Given the description of an element on the screen output the (x, y) to click on. 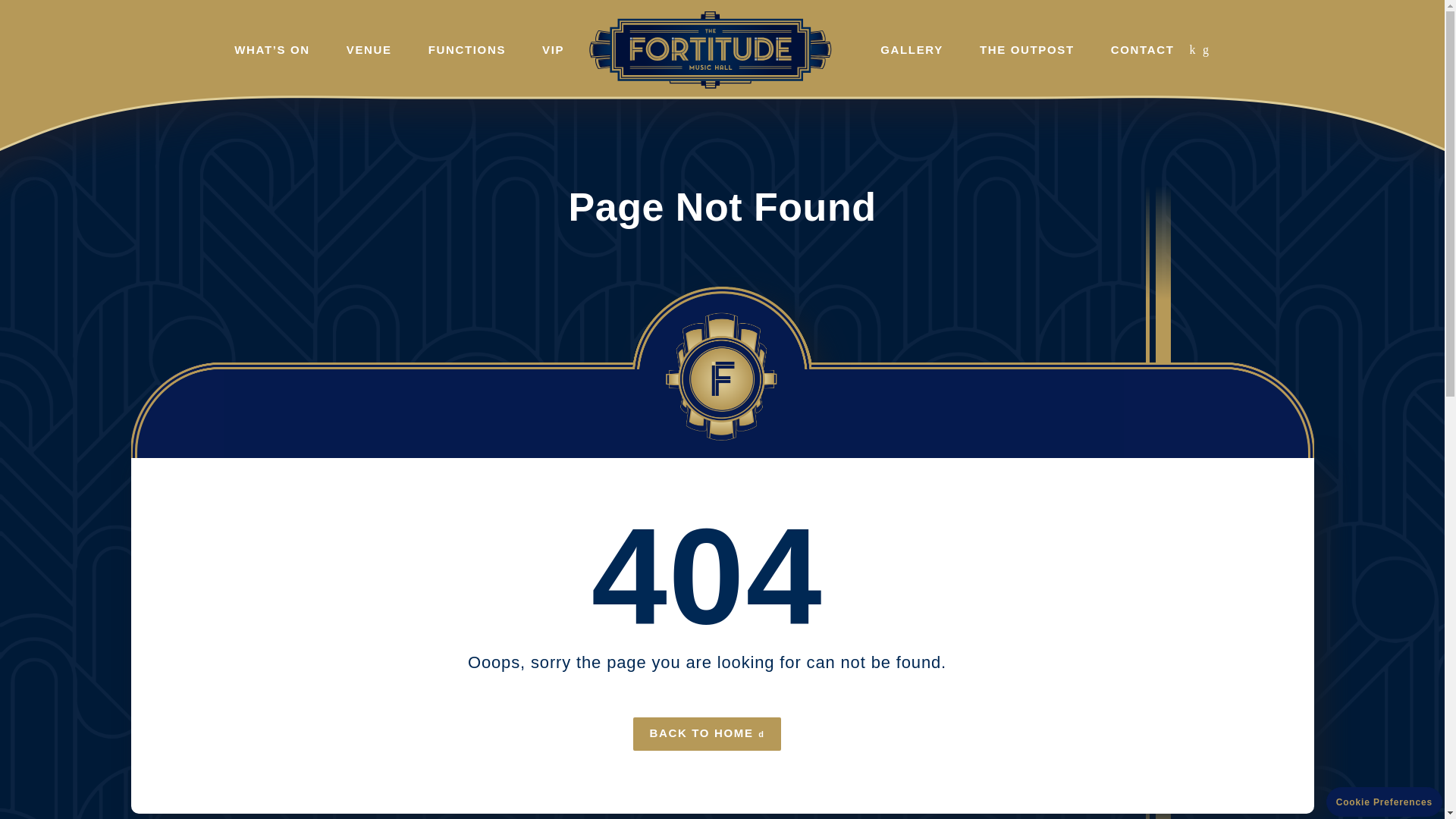
BACK TO HOME (706, 734)
THE OUTPOST (1026, 49)
FUNCTIONS (466, 49)
